Given the description of an element on the screen output the (x, y) to click on. 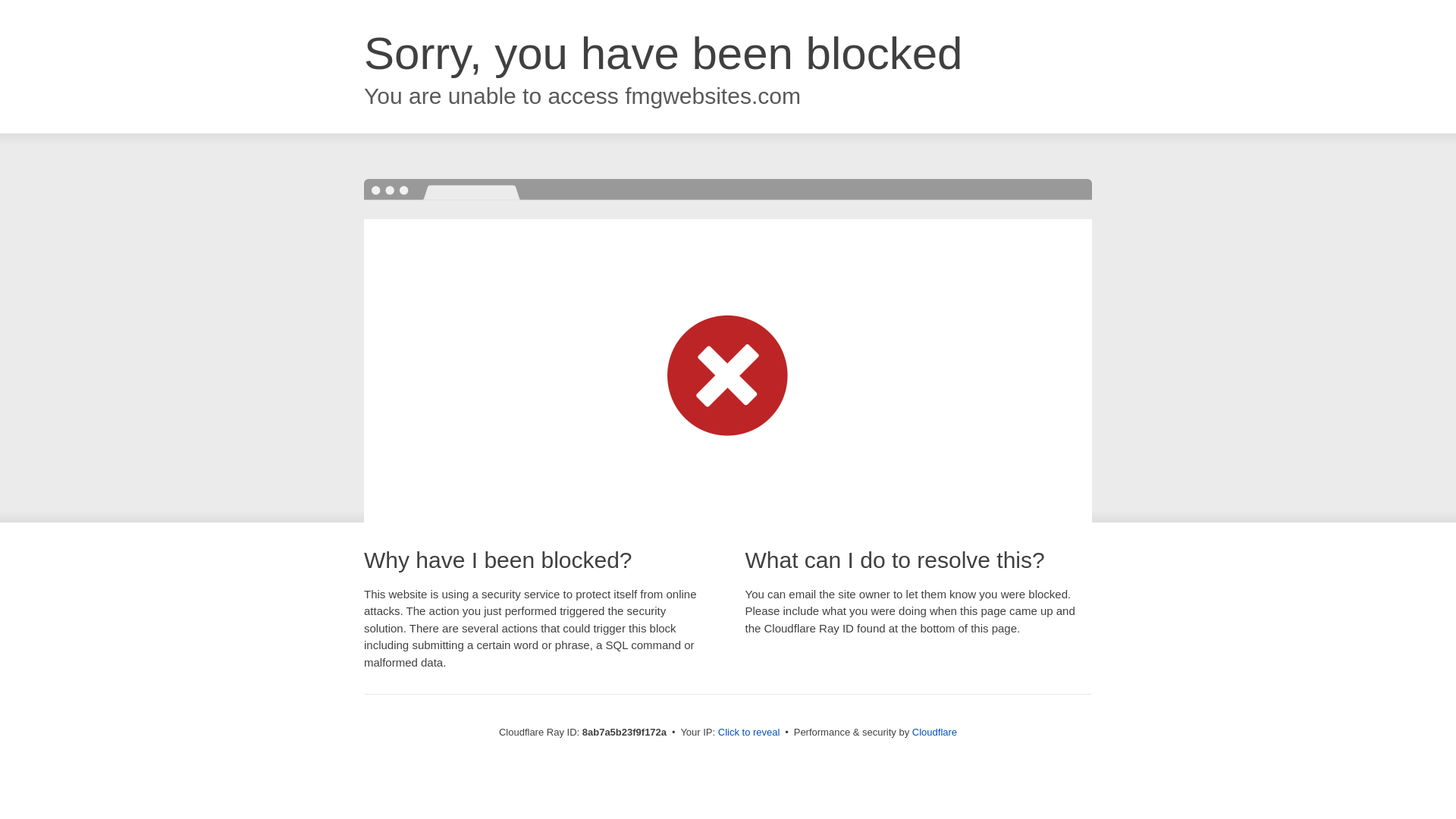
Cloudflare (934, 731)
Click to reveal (748, 732)
